Given the description of an element on the screen output the (x, y) to click on. 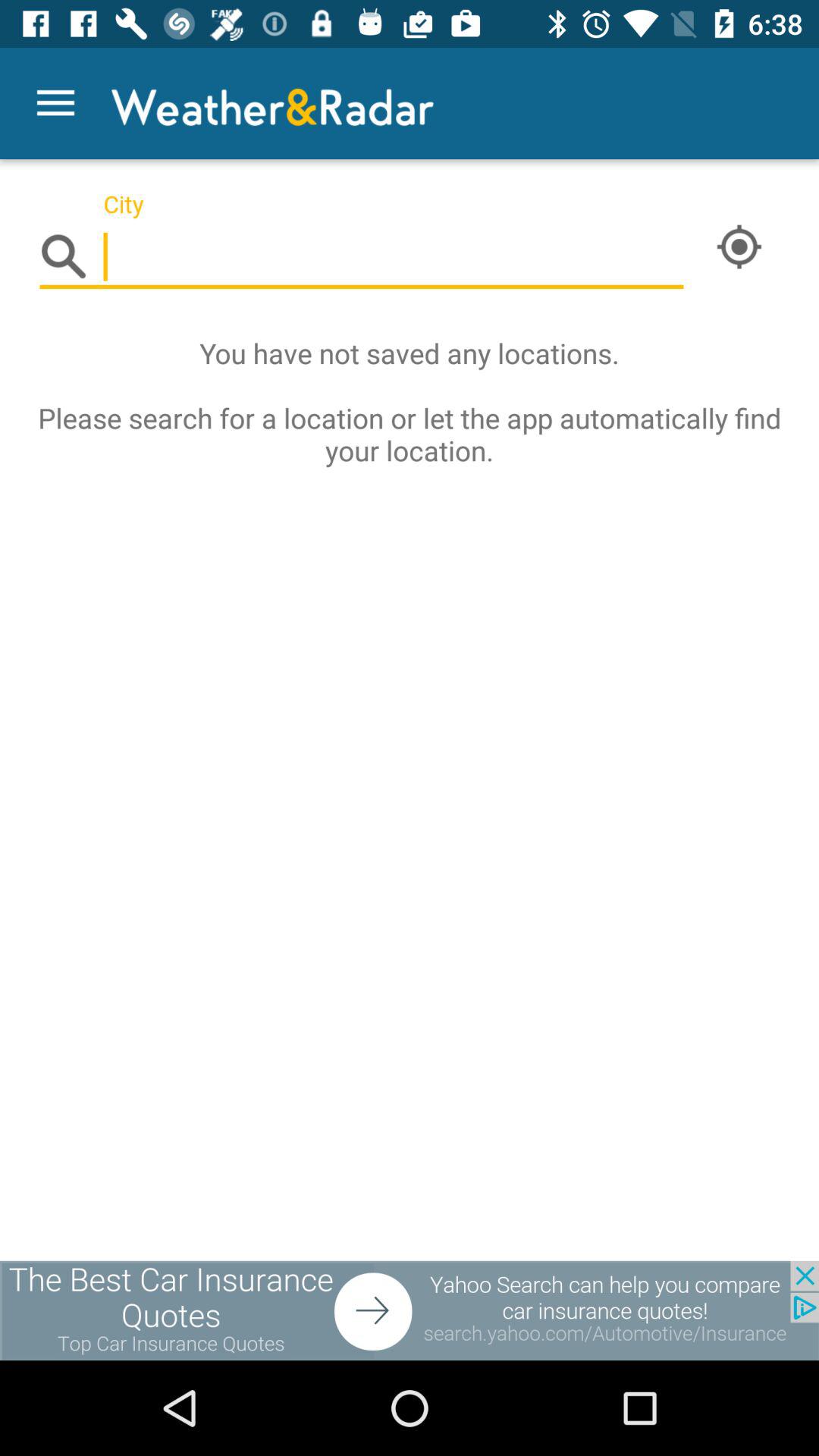
city search (361, 257)
